Given the description of an element on the screen output the (x, y) to click on. 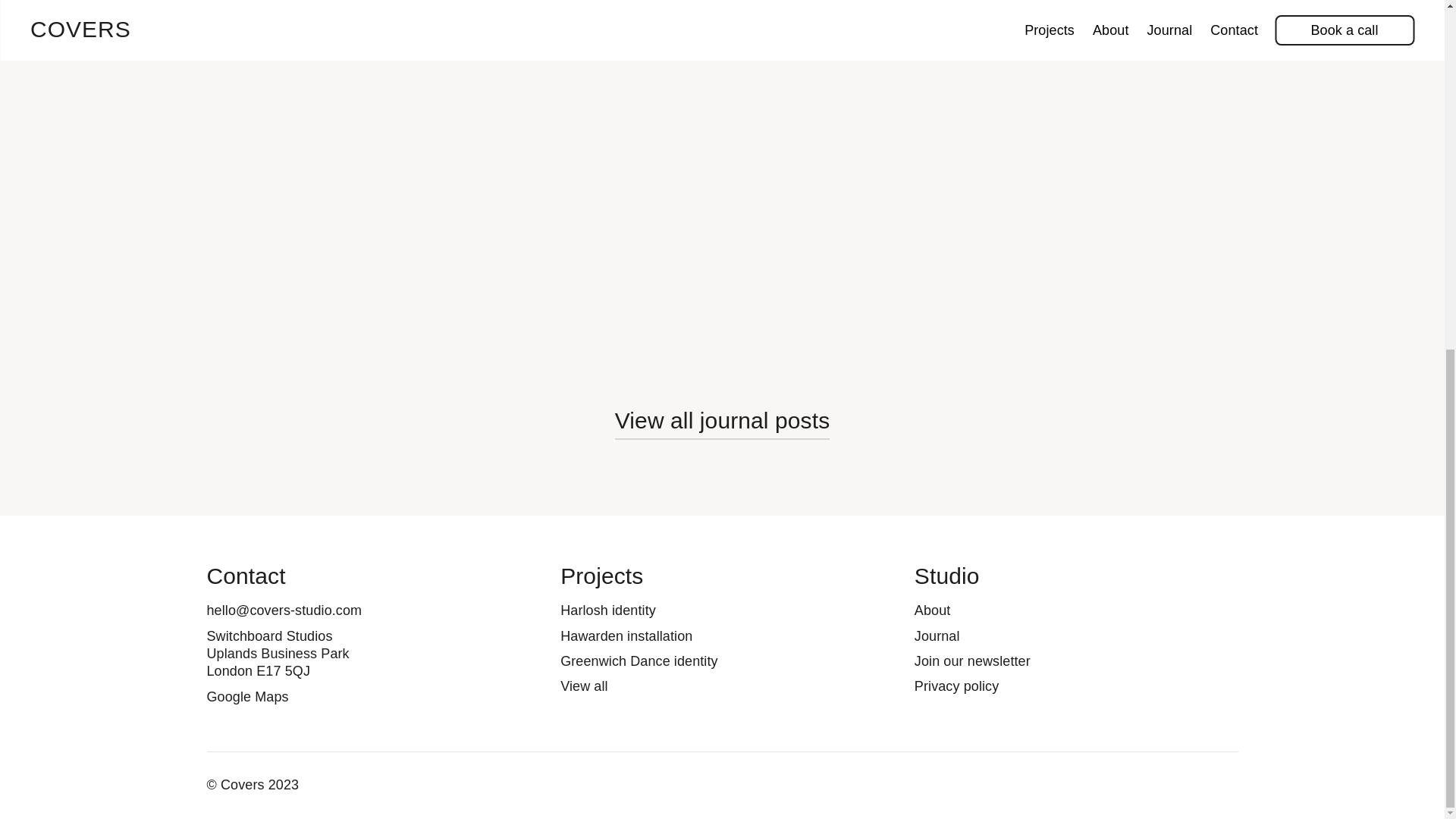
Google Maps (247, 696)
Greenwich Dance identity (638, 661)
View all journal posts (721, 420)
About (932, 610)
Join our newsletter (972, 661)
Hawarden installation (626, 635)
Privacy policy (956, 685)
View all (584, 685)
Journal (936, 635)
Harlosh identity (608, 610)
